Given the description of an element on the screen output the (x, y) to click on. 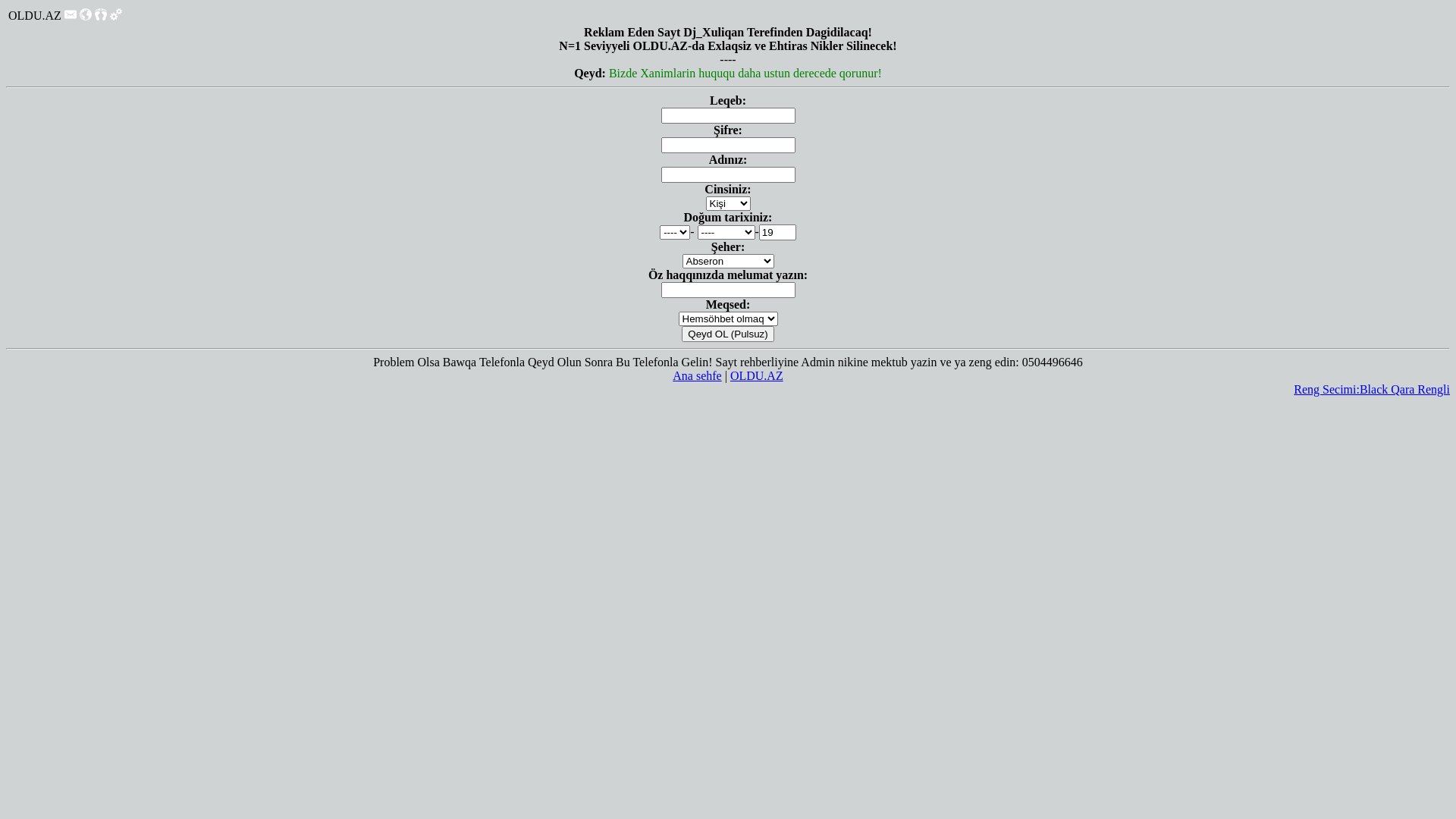
Qonaqlar Element type: hover (100, 14)
OLDU.AZ Element type: text (756, 375)
Mesajlar Element type: hover (70, 14)
Ana sehfe Element type: text (696, 375)
Qeyd OL (Pulsuz) Element type: text (727, 334)
Leqebiniz (Nick) Element type: hover (728, 115)
Qonaqlar Element type: hover (100, 15)
Mesajlar Element type: hover (70, 15)
Reng Secimi:Black Qara Rengli Element type: text (1371, 388)
